Given the description of an element on the screen output the (x, y) to click on. 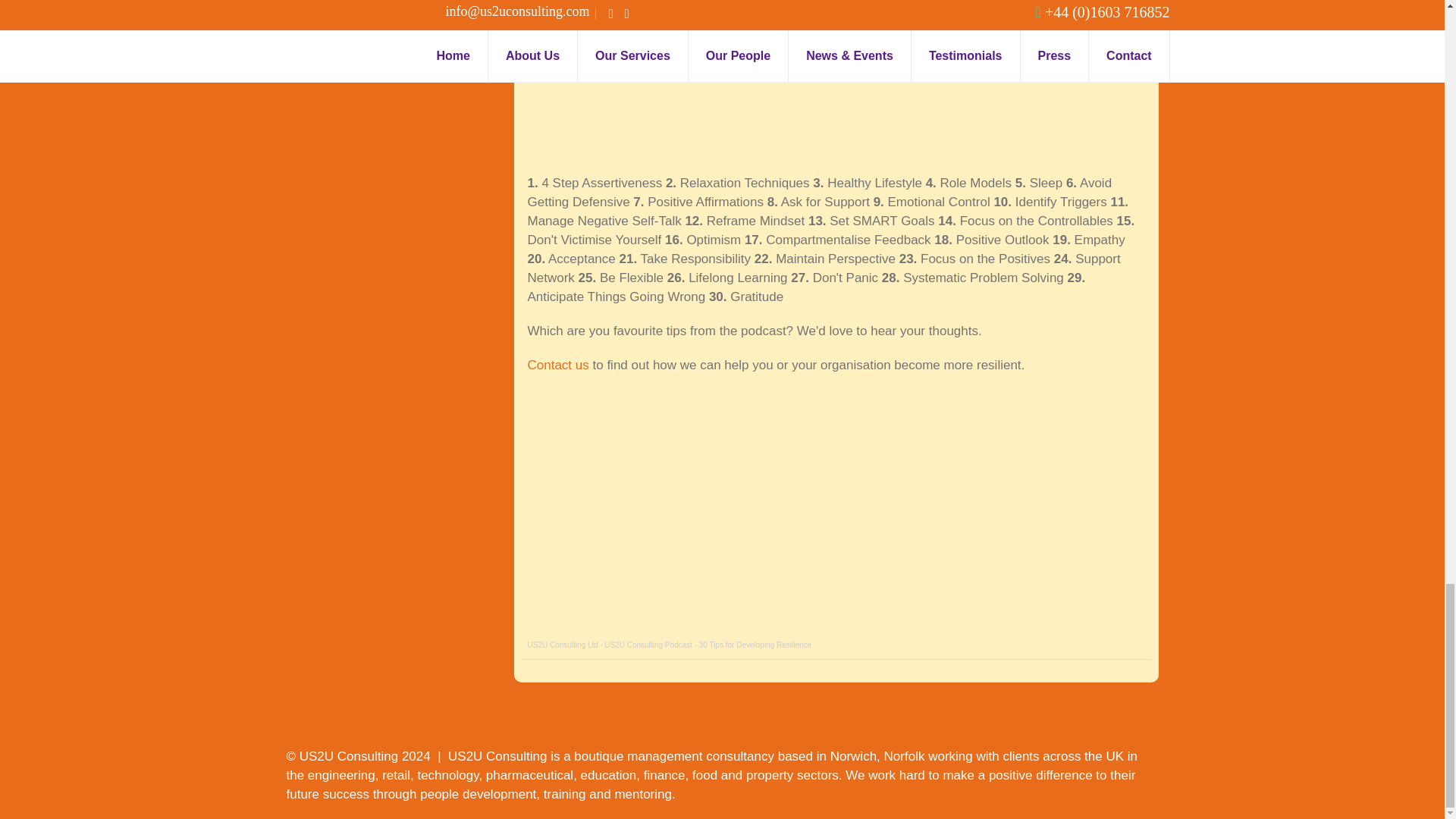
Contact Us (558, 364)
YouTube video player (739, 76)
US2U Consulting Podcast - 30 Tips for Developing Resilience (707, 644)
Contact us (558, 364)
Norfolk (903, 756)
property (769, 775)
people development (477, 794)
US2U Consulting Ltd (562, 644)
training (564, 794)
US2U Consulting Ltd (562, 644)
